Given the description of an element on the screen output the (x, y) to click on. 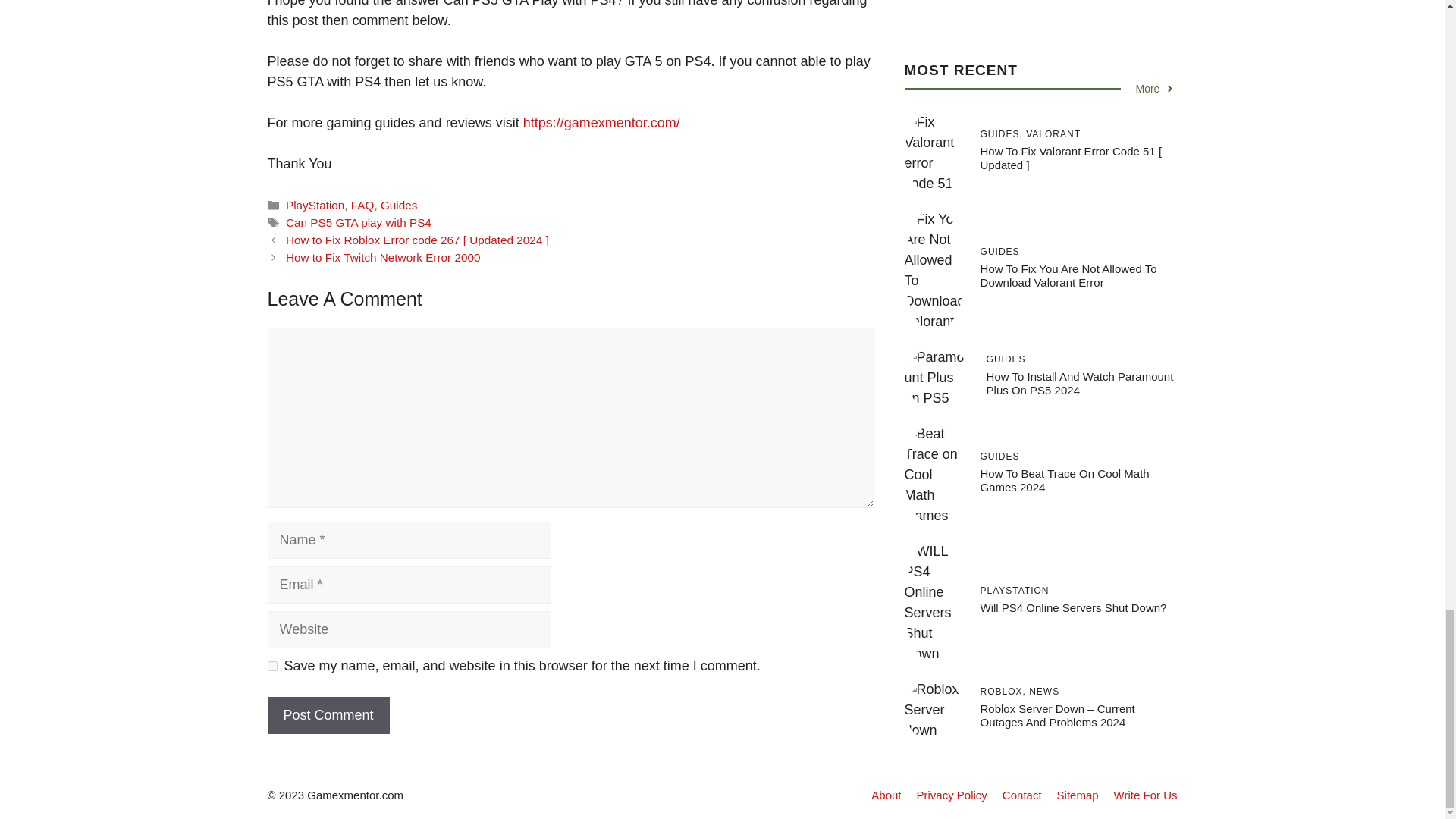
Can PS5 GTA play with PS4 (357, 222)
Post Comment (327, 714)
Post Comment (327, 714)
Guides (398, 205)
How to Fix Twitch Network Error 2000 (382, 256)
FAQ (362, 205)
yes (271, 665)
PlayStation (314, 205)
